Given the description of an element on the screen output the (x, y) to click on. 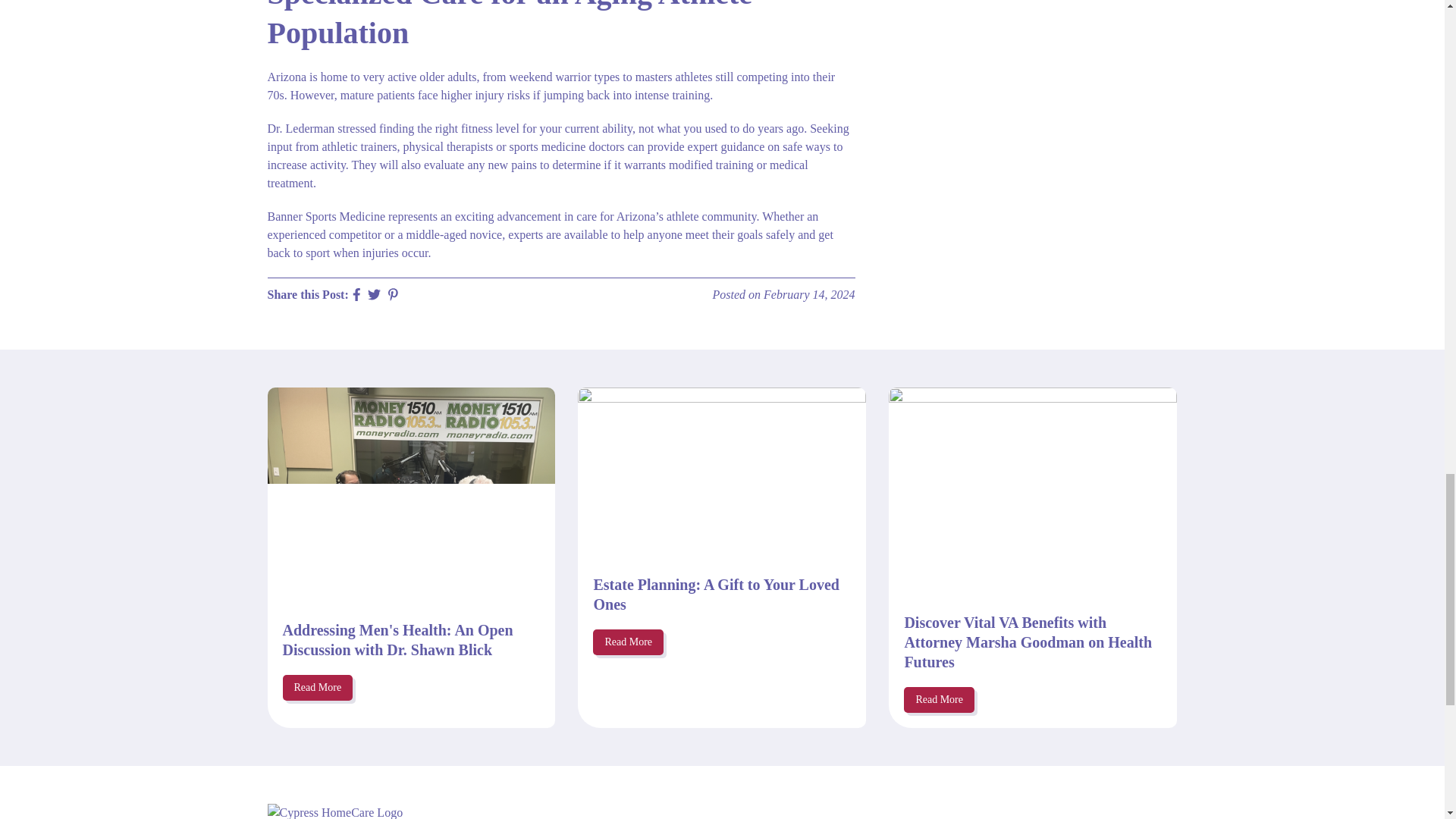
Read More (627, 642)
Read More (317, 687)
Read More (939, 699)
